Given the description of an element on the screen output the (x, y) to click on. 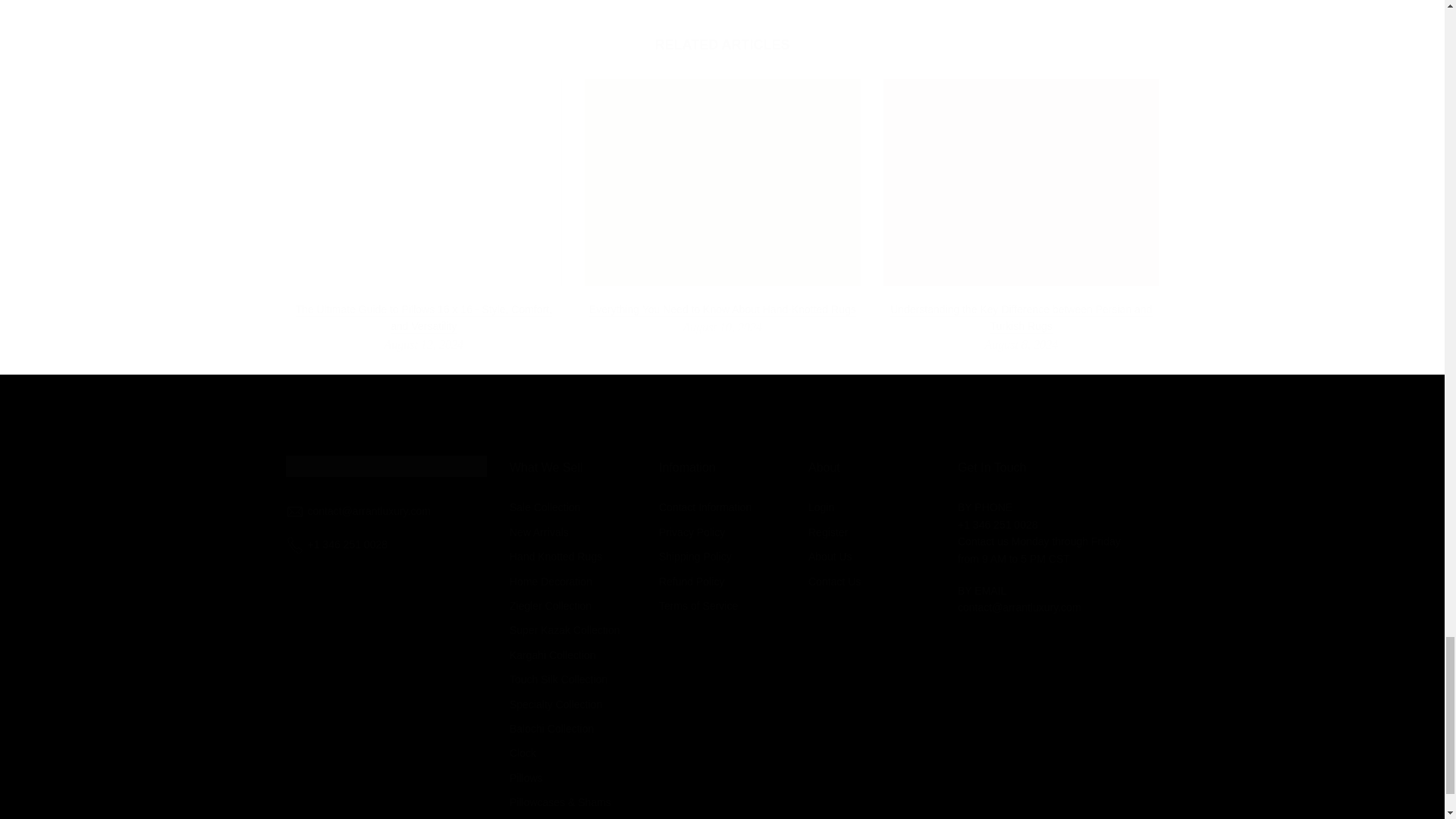
Everything You Need to Know About Hand-Knotted Rugs (722, 309)
